Given the description of an element on the screen output the (x, y) to click on. 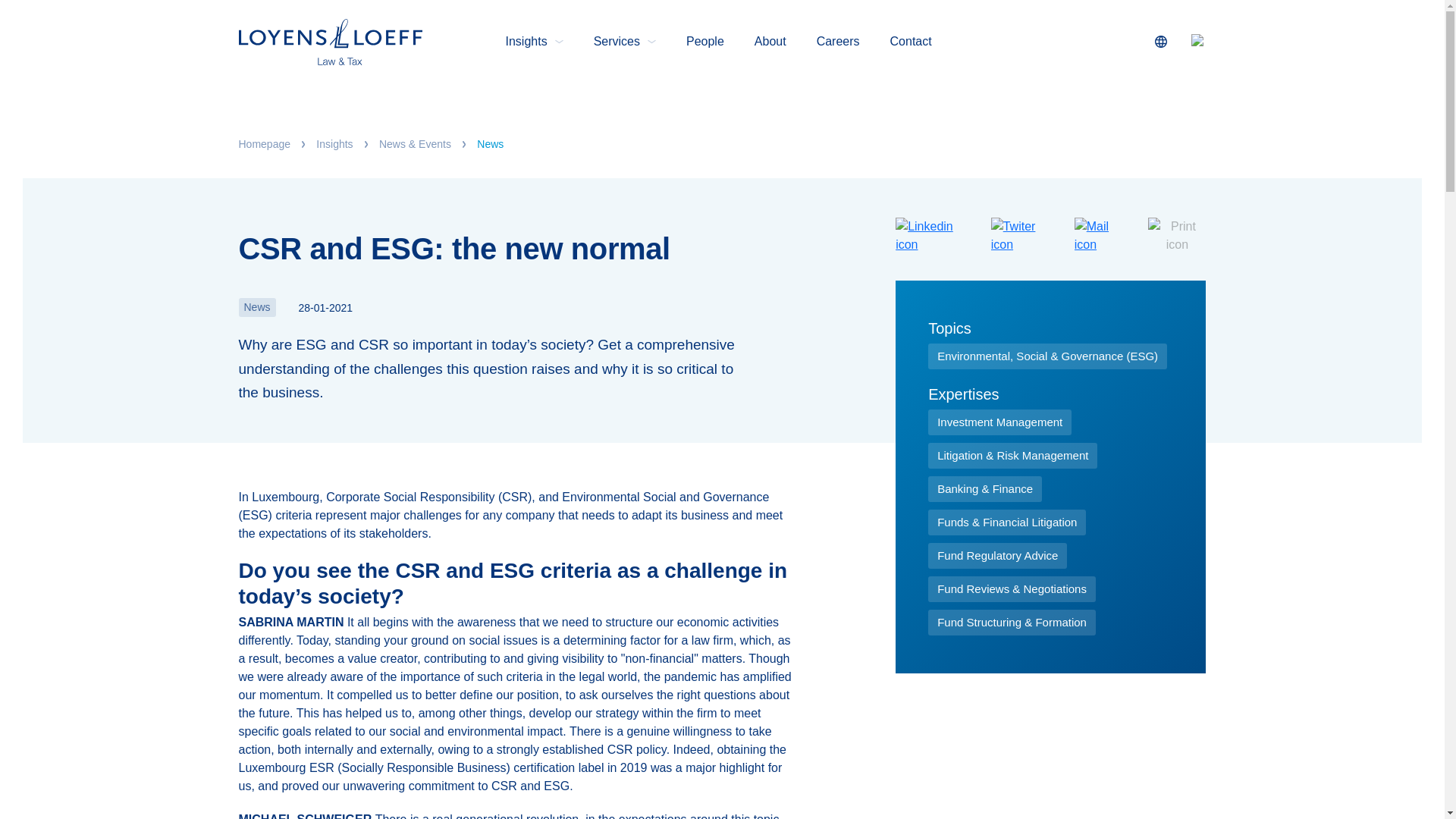
Contact (910, 41)
Contact (910, 41)
People (704, 41)
Careers (838, 41)
About (770, 41)
People (704, 41)
About (770, 41)
Careers (838, 41)
